Given the description of an element on the screen output the (x, y) to click on. 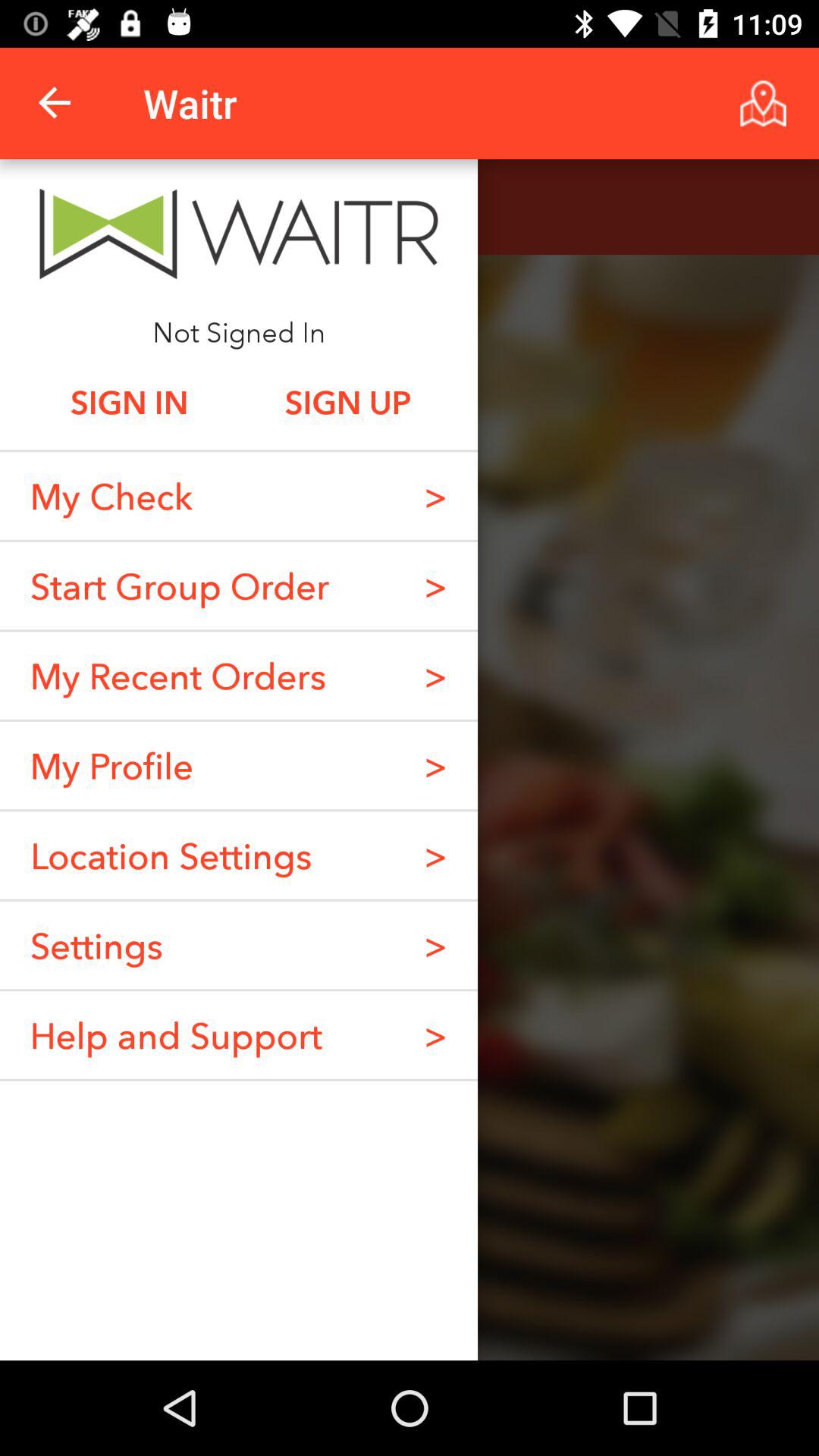
open > item (435, 945)
